Given the description of an element on the screen output the (x, y) to click on. 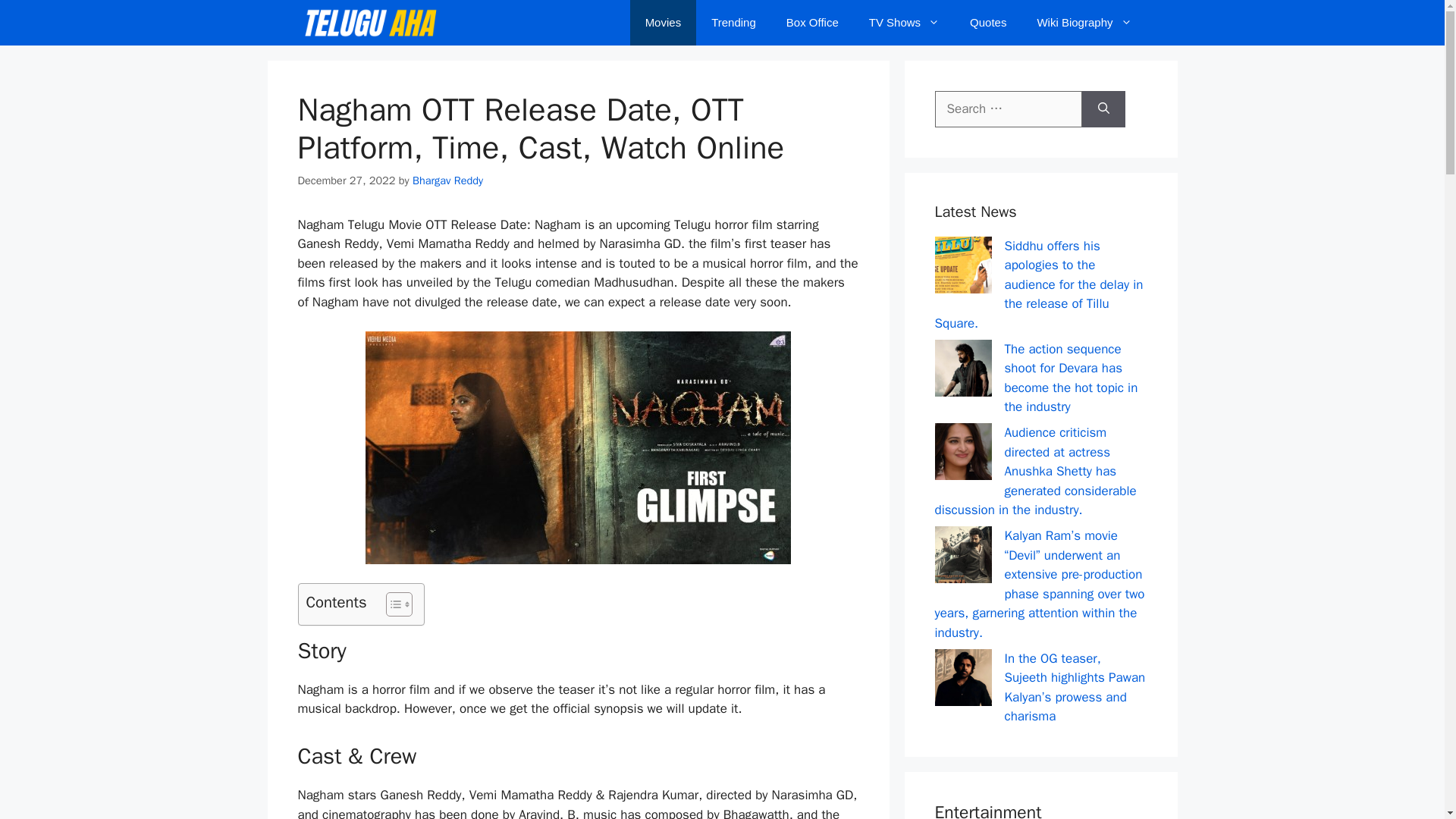
Bhargav Reddy (447, 180)
TV Shows (904, 22)
TeluguAha (369, 22)
Movies (663, 22)
Box Office (812, 22)
Wiki Biography (1084, 22)
Quotes (988, 22)
View all posts by Bhargav Reddy (447, 180)
Trending (733, 22)
